Given the description of an element on the screen output the (x, y) to click on. 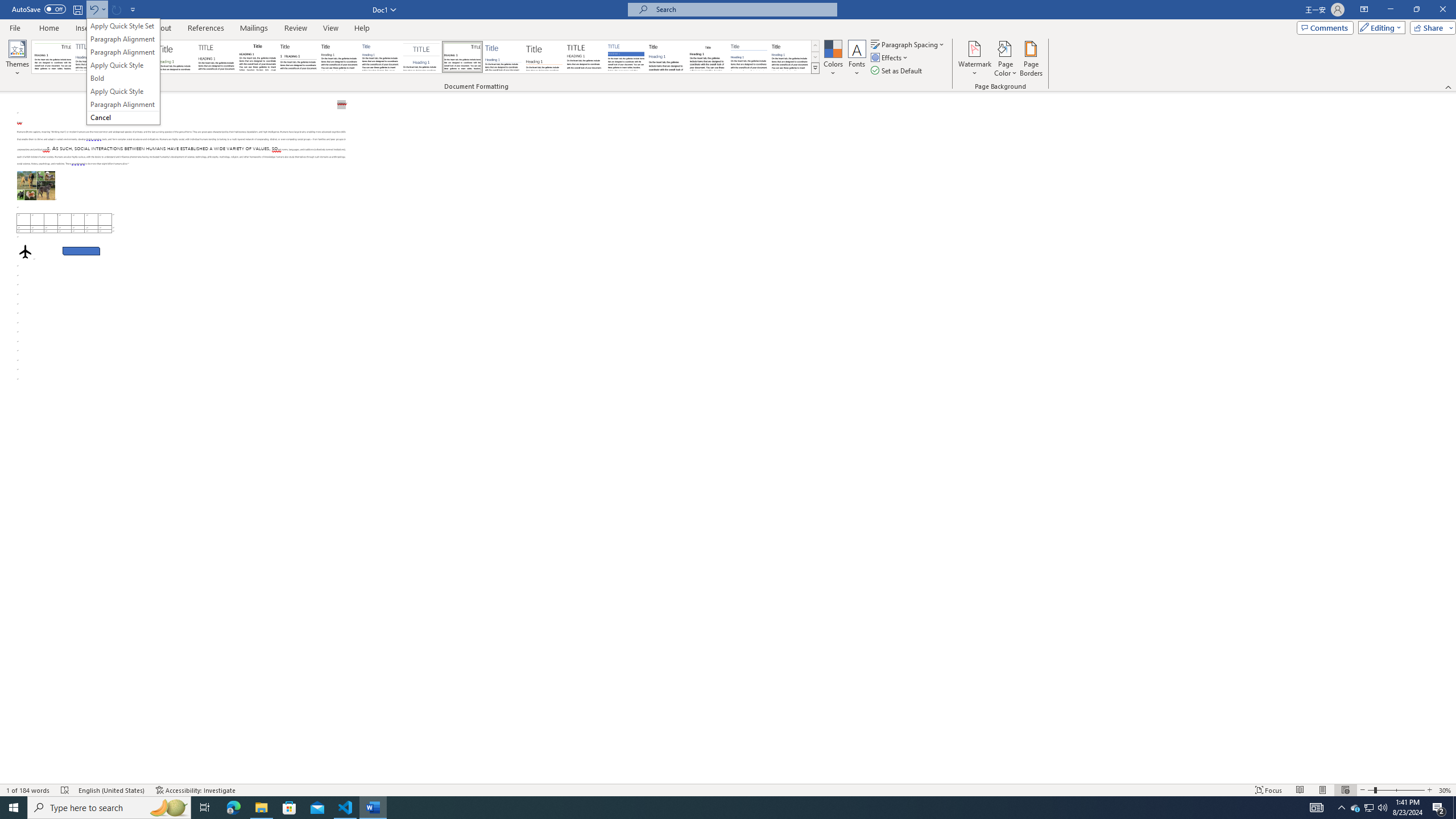
Lines (Distinctive) (462, 56)
